Given the description of an element on the screen output the (x, y) to click on. 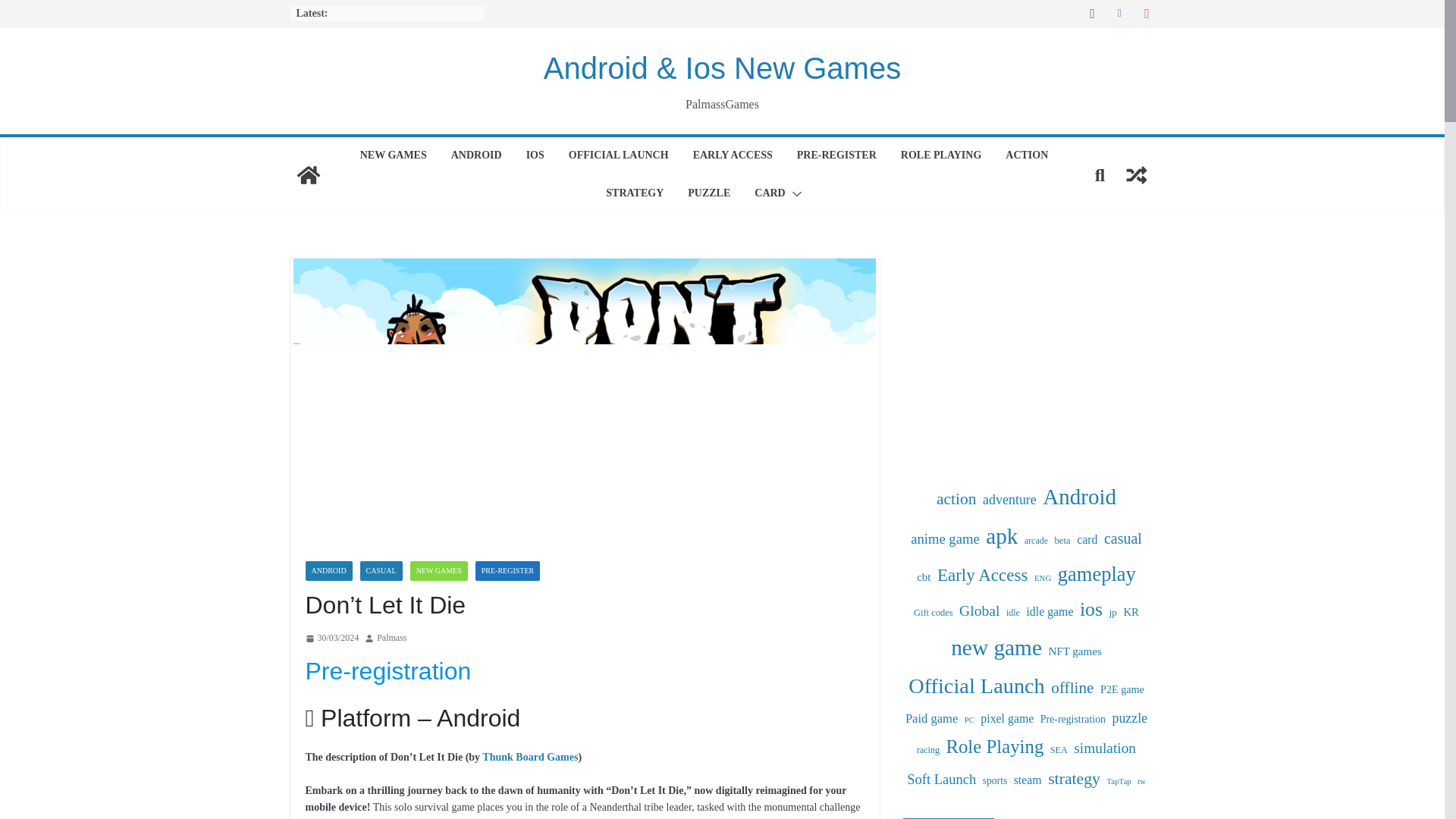
ANDROID (476, 155)
PUZZLE (708, 193)
STRATEGY (634, 193)
PRE-REGISTER (836, 155)
EARLY ACCESS (733, 155)
OFFICIAL LAUNCH (618, 155)
NEW GAMES (392, 155)
09:00 (331, 638)
ACTION (1027, 155)
CARD (769, 193)
